Given the description of an element on the screen output the (x, y) to click on. 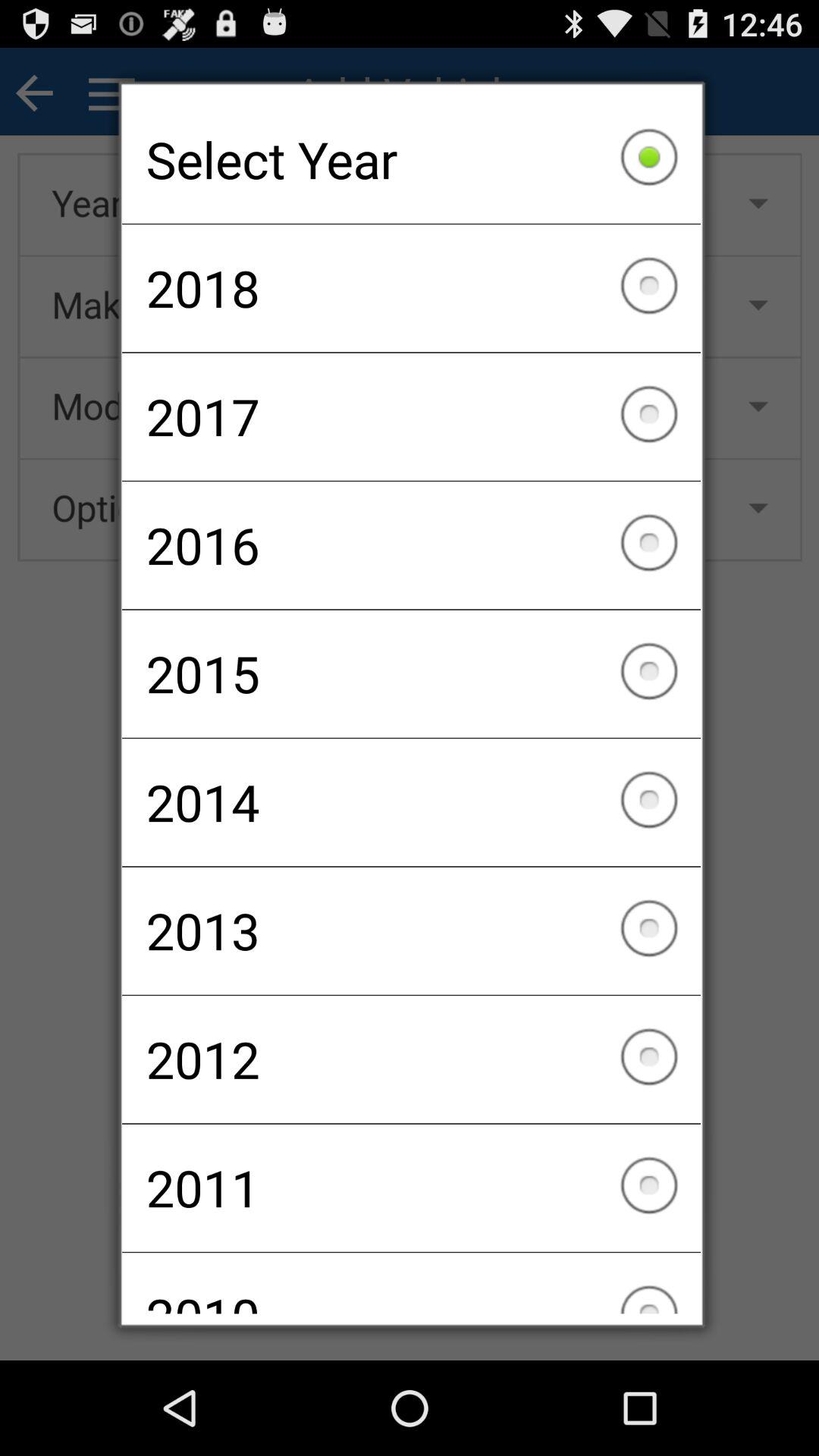
press the 2013 checkbox (411, 930)
